Given the description of an element on the screen output the (x, y) to click on. 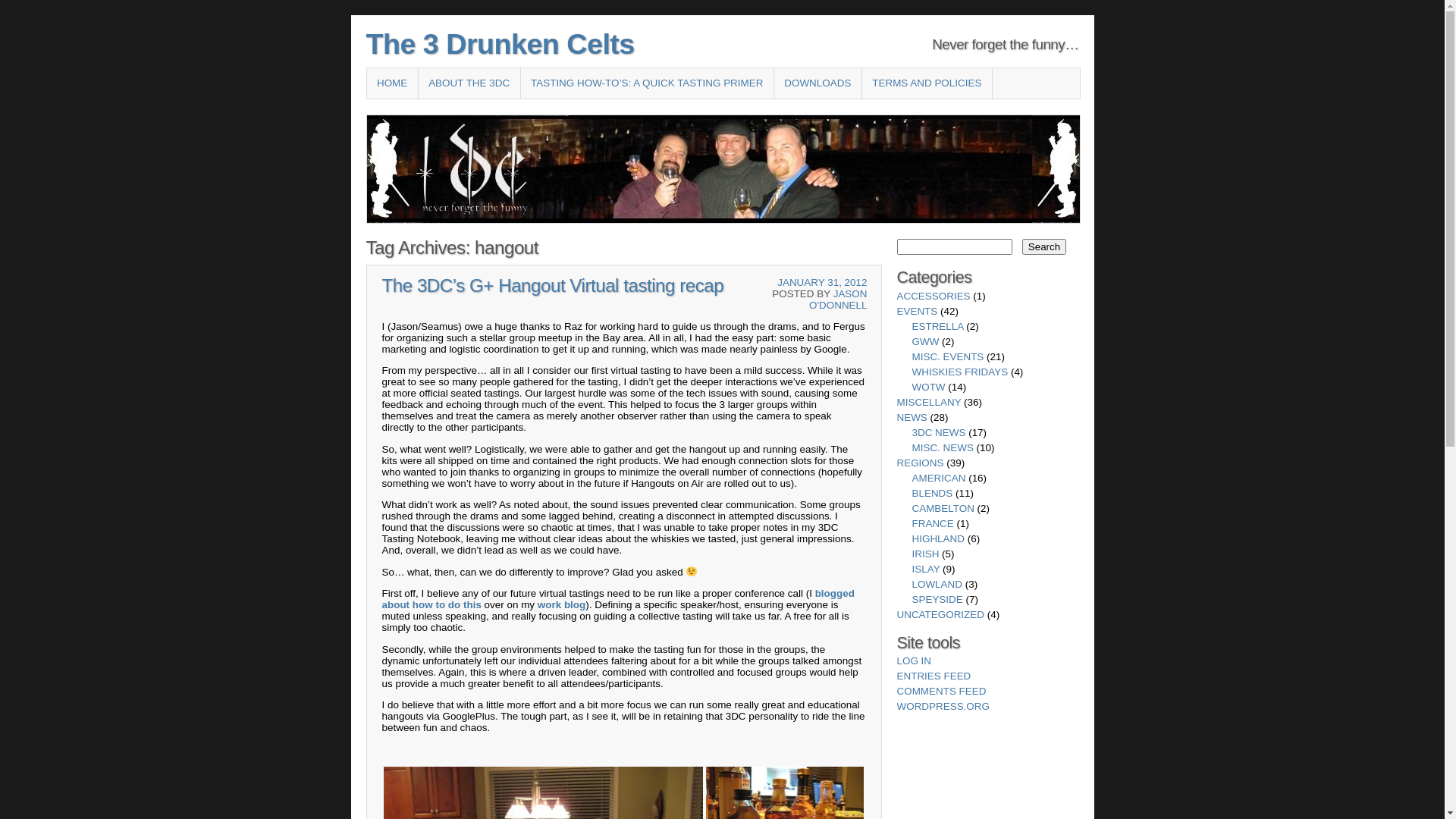
ESTRELLA Element type: text (937, 326)
Search Element type: text (1044, 246)
ENTRIES FEED Element type: text (933, 675)
COMMENTS FEED Element type: text (940, 690)
DOWNLOADS Element type: text (817, 83)
ABOUT THE 3DC Element type: text (469, 83)
FRANCE Element type: text (932, 523)
HOME Element type: text (392, 83)
AMERICAN Element type: text (938, 477)
UNCATEGORIZED Element type: text (939, 614)
JANUARY 31, 2012 Element type: text (821, 281)
IRISH Element type: text (924, 553)
The 3 Drunken Celts Element type: text (499, 43)
ISLAY Element type: text (925, 568)
WOTW Element type: text (927, 386)
work blog Element type: text (561, 604)
TERMS AND POLICIES Element type: text (926, 83)
SKIP TO CONTENT Element type: text (375, 113)
3DC NEWS Element type: text (938, 432)
NEWS Element type: text (911, 417)
SPEYSIDE Element type: text (936, 599)
CAMBELTON Element type: text (942, 508)
JASON O'DONNELL Element type: text (838, 299)
WORDPRESS.ORG Element type: text (942, 706)
EVENTS Element type: text (916, 310)
MISCELLANY Element type: text (928, 401)
ACCESSORIES Element type: text (932, 295)
LOG IN Element type: text (913, 660)
REGIONS Element type: text (919, 462)
MISC. NEWS Element type: text (941, 447)
blogged about how to do this Element type: text (618, 598)
BLENDS Element type: text (931, 492)
GWW Element type: text (924, 341)
LOWLAND Element type: text (936, 583)
MISC. EVENTS Element type: text (947, 356)
WHISKIES FRIDAYS Element type: text (959, 371)
HIGHLAND Element type: text (937, 538)
